Given the description of an element on the screen output the (x, y) to click on. 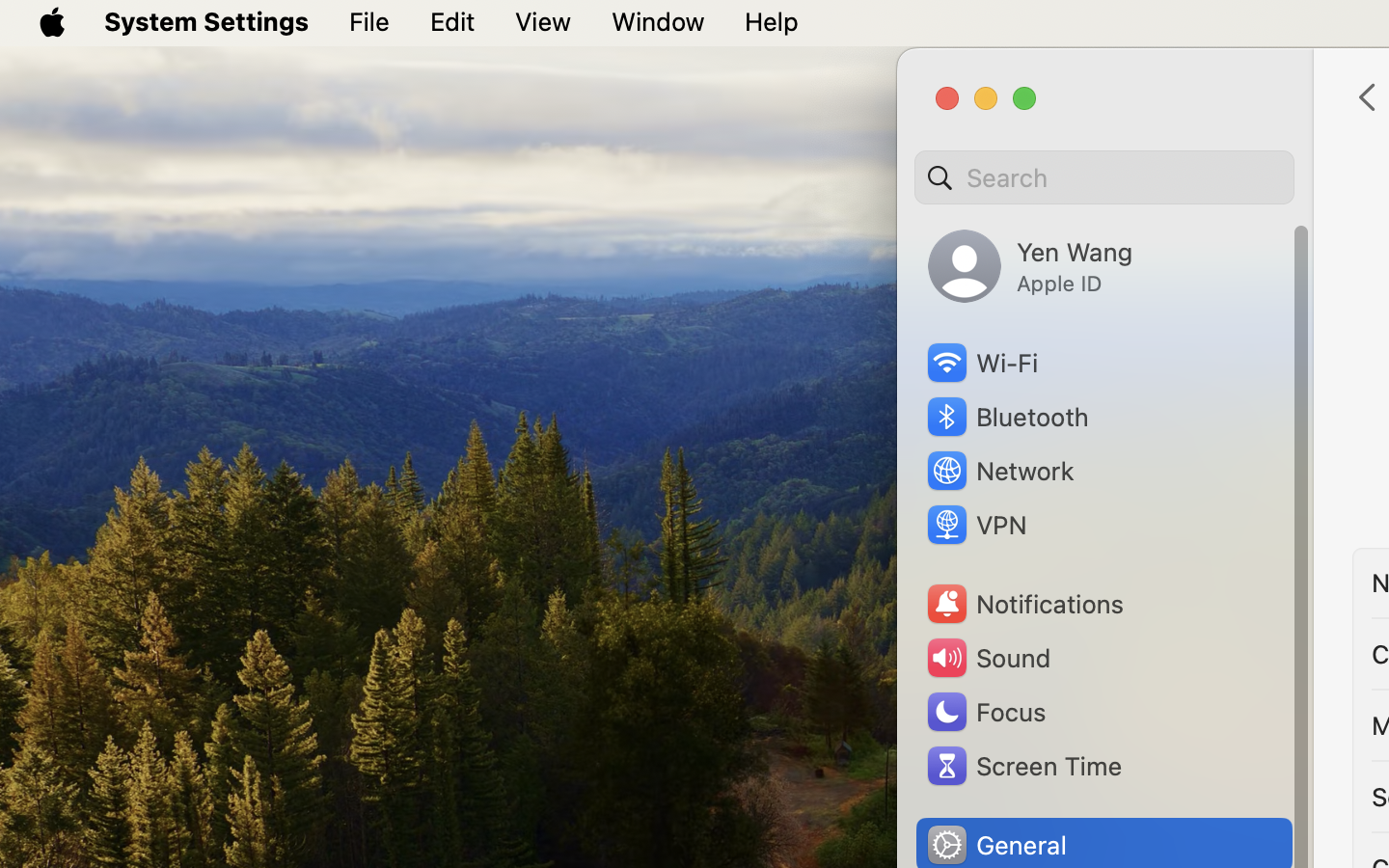
Yen Wang, Apple ID Element type: AXStaticText (1029, 265)
Sound Element type: AXStaticText (987, 657)
Wi‑Fi Element type: AXStaticText (980, 362)
Notifications Element type: AXStaticText (1024, 603)
Network Element type: AXStaticText (999, 470)
